Given the description of an element on the screen output the (x, y) to click on. 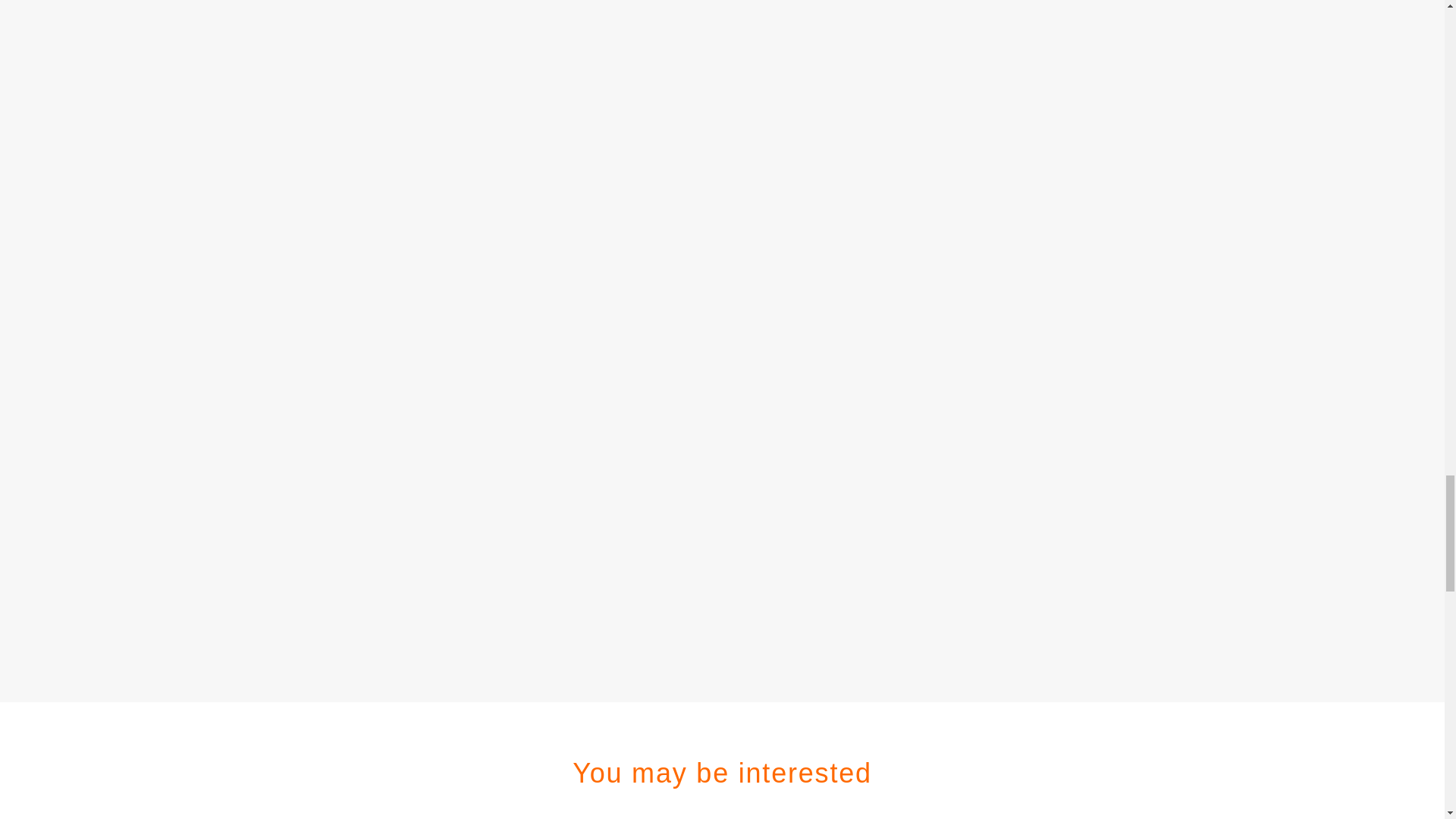
Isabel Arenas Uribe (397, 78)
